Given the description of an element on the screen output the (x, y) to click on. 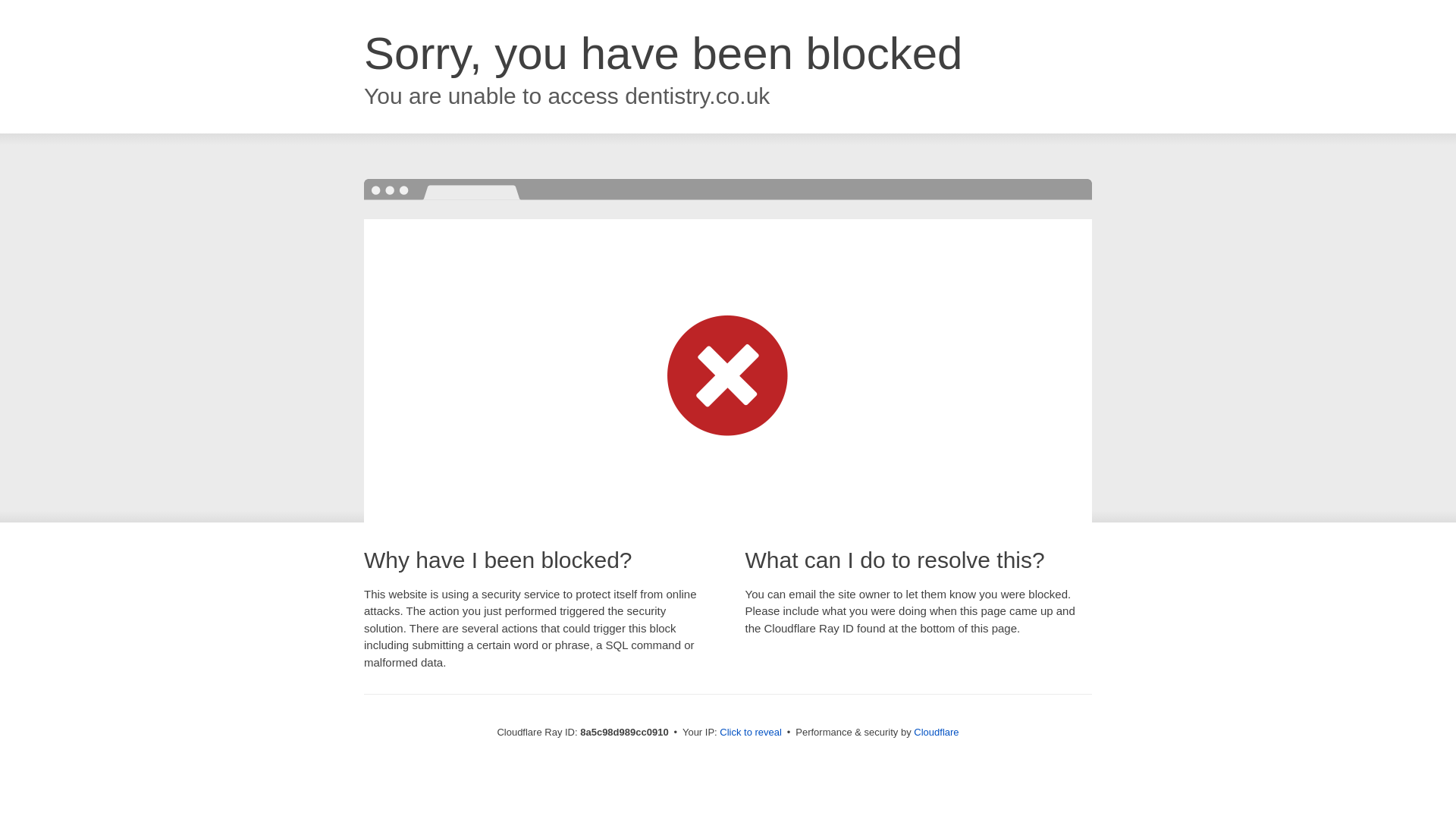
Cloudflare (936, 731)
Click to reveal (750, 732)
